Given the description of an element on the screen output the (x, y) to click on. 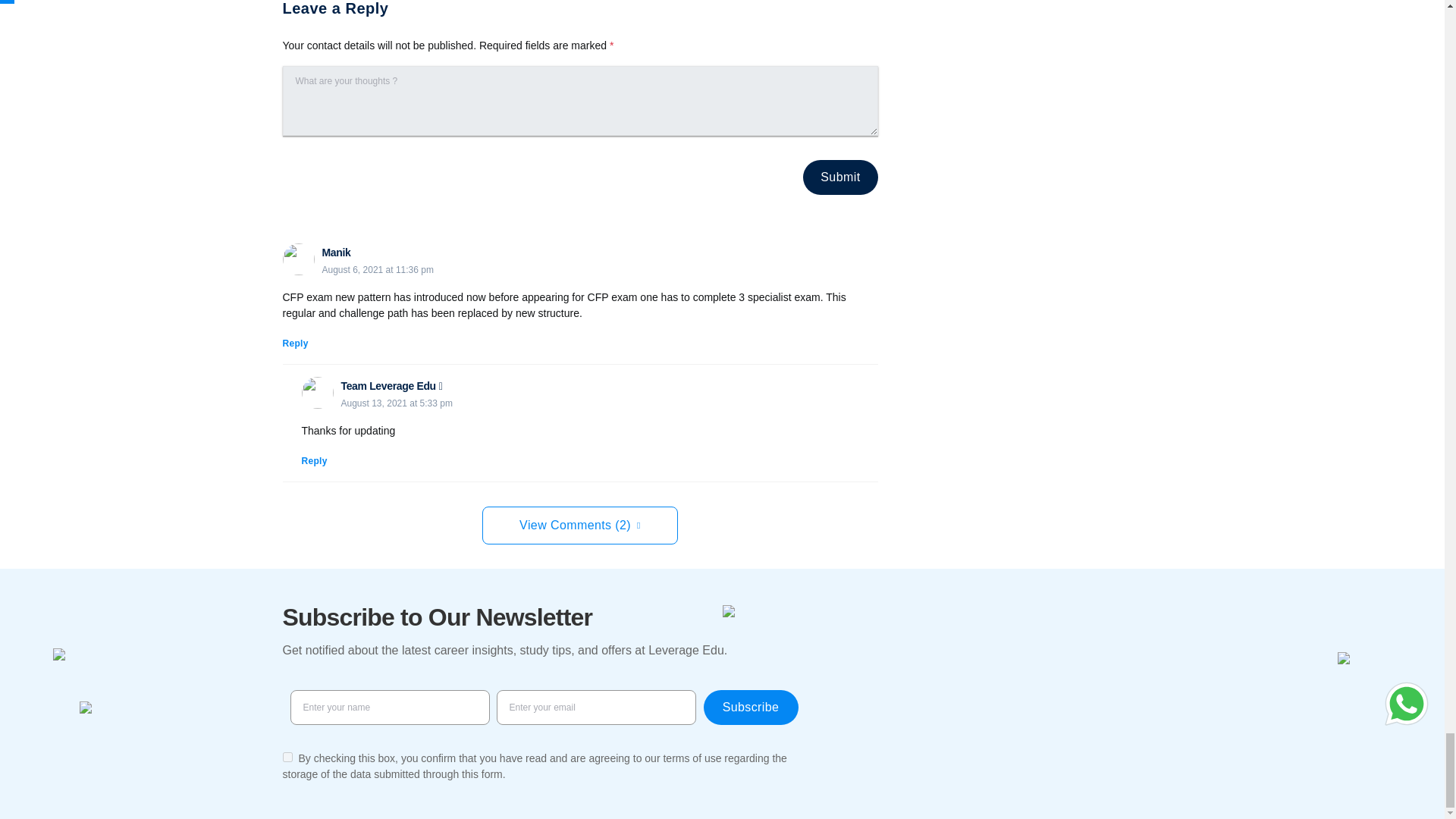
on (287, 757)
